Given the description of an element on the screen output the (x, y) to click on. 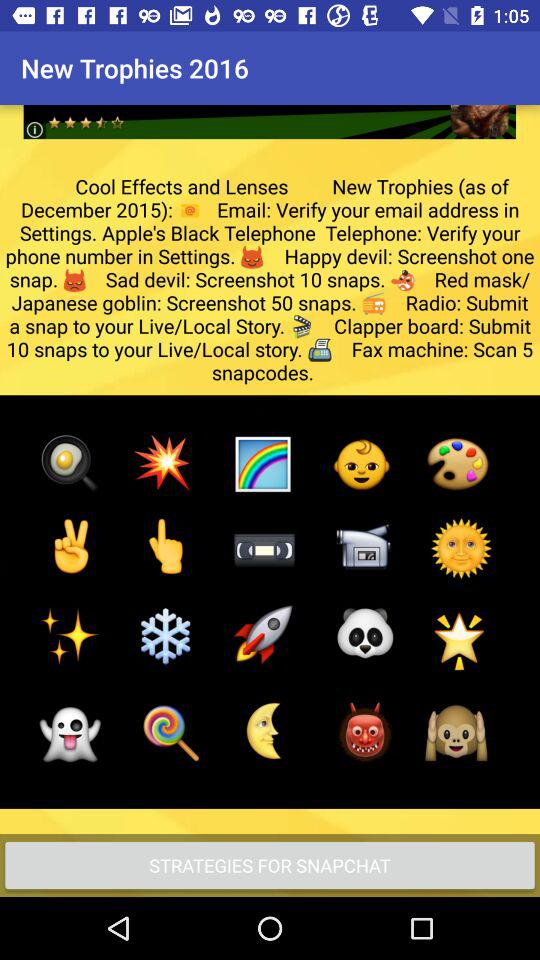
view the rating (269, 106)
